Given the description of an element on the screen output the (x, y) to click on. 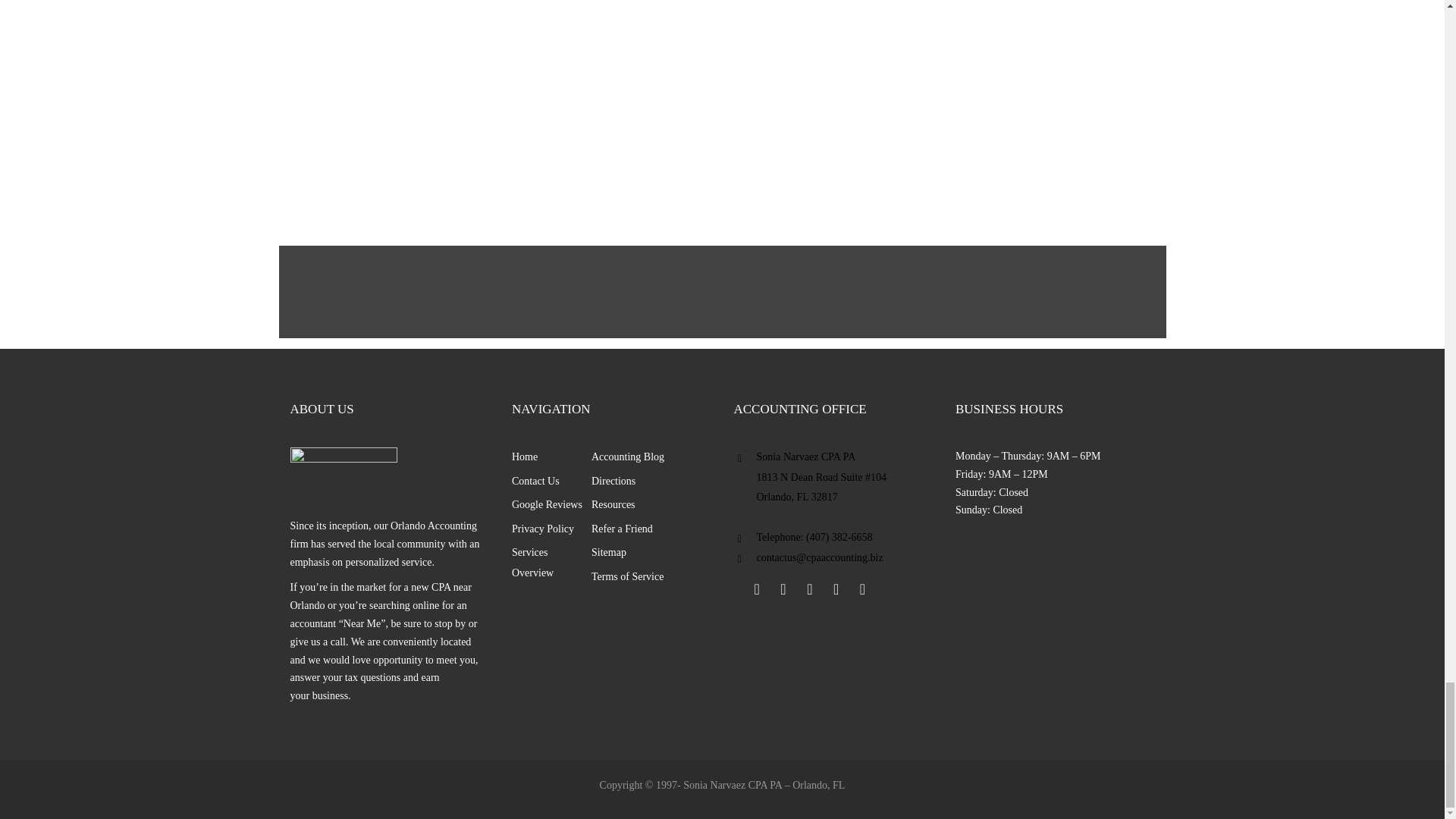
Youtube (835, 588)
Facebook (756, 588)
Instagram (861, 588)
Twitter (783, 588)
Linked In (809, 588)
